Given the description of an element on the screen output the (x, y) to click on. 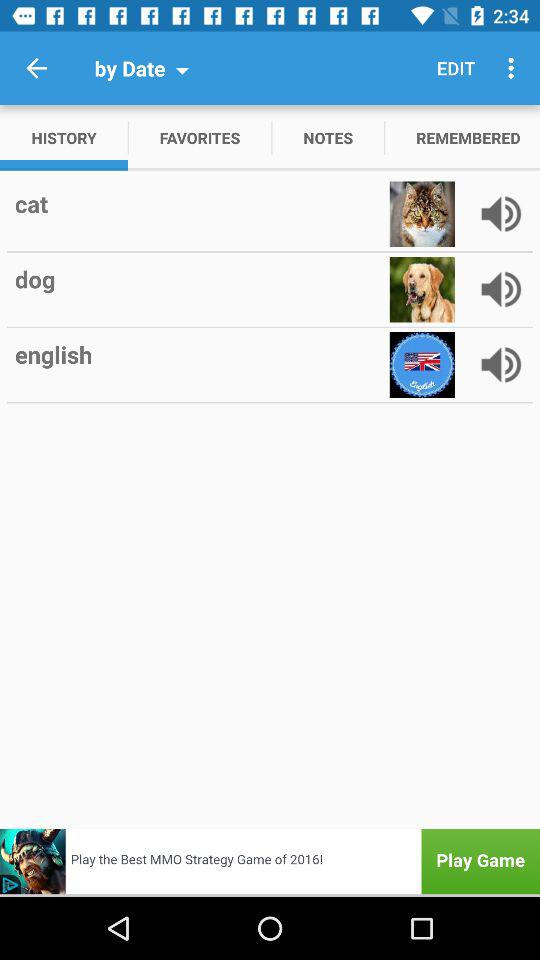
launch the dog icon (200, 279)
